Given the description of an element on the screen output the (x, y) to click on. 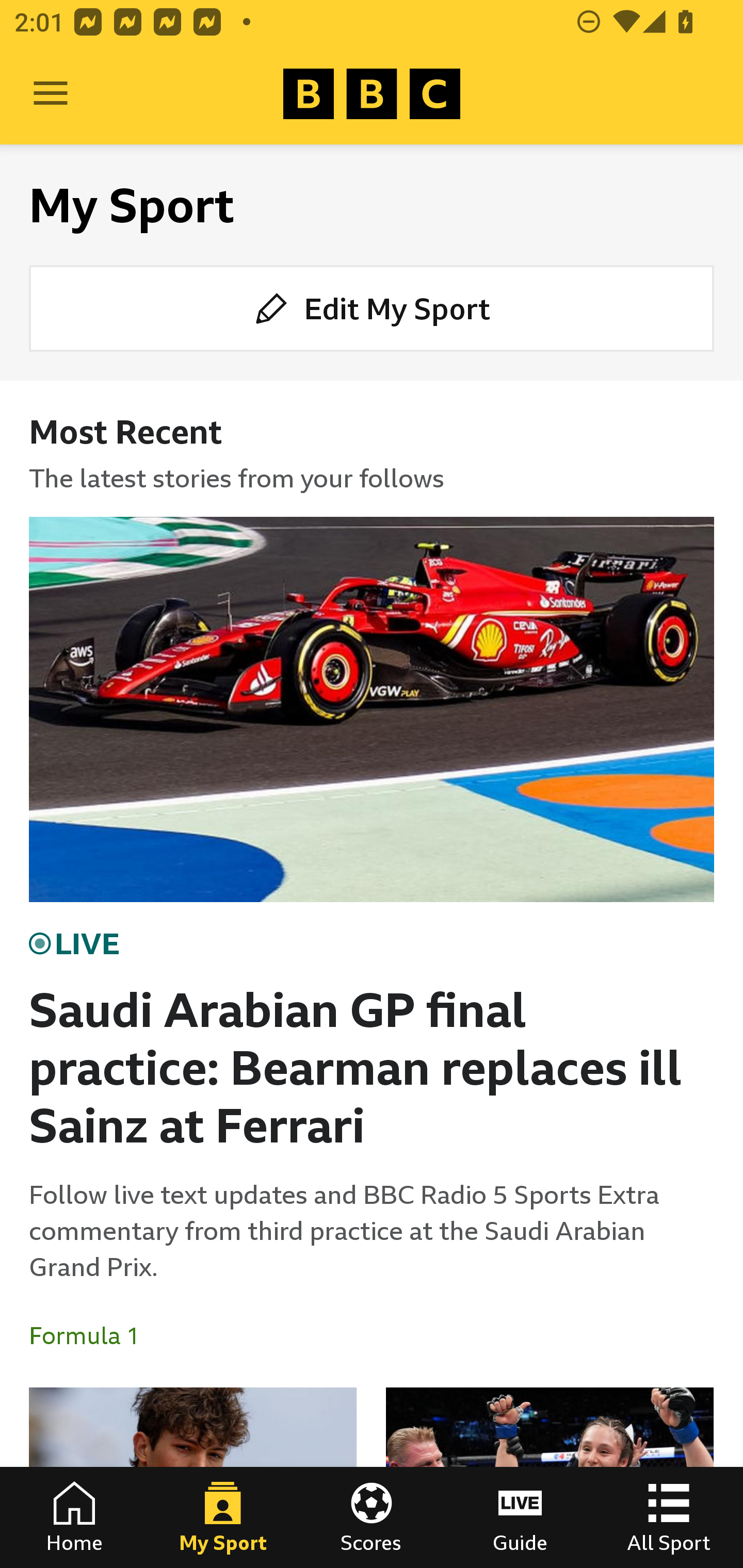
Open Menu (50, 93)
Edit My Sport (371, 307)
Home (74, 1517)
Scores (371, 1517)
Guide (519, 1517)
All Sport (668, 1517)
